Given the description of an element on the screen output the (x, y) to click on. 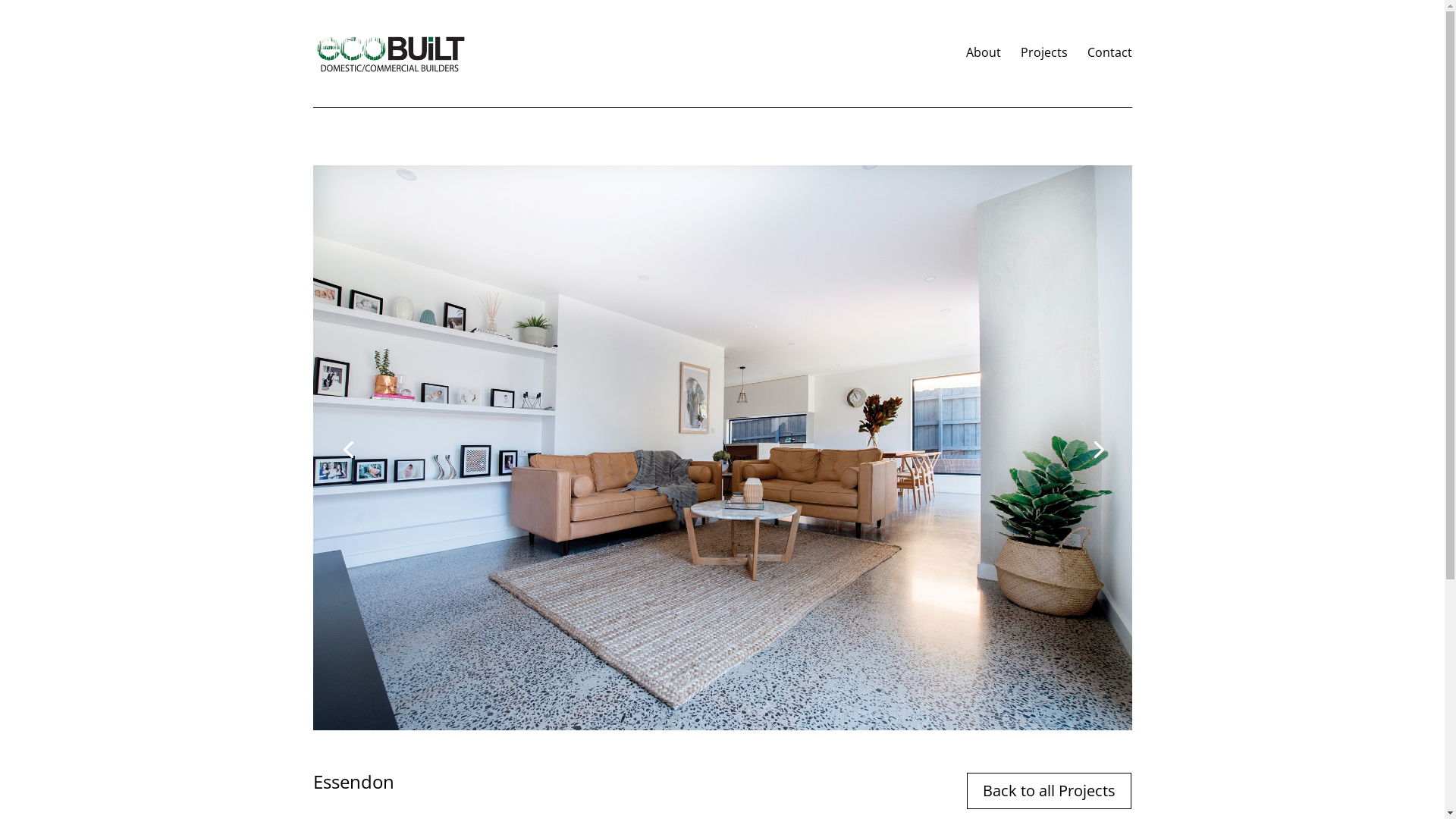
Back to all Projects Element type: text (1048, 790)
About Element type: text (983, 75)
Contact Element type: text (1109, 75)
Projects Element type: text (1043, 75)
ecobuilt-essendon-lounge-2 Element type: hover (721, 729)
